Given the description of an element on the screen output the (x, y) to click on. 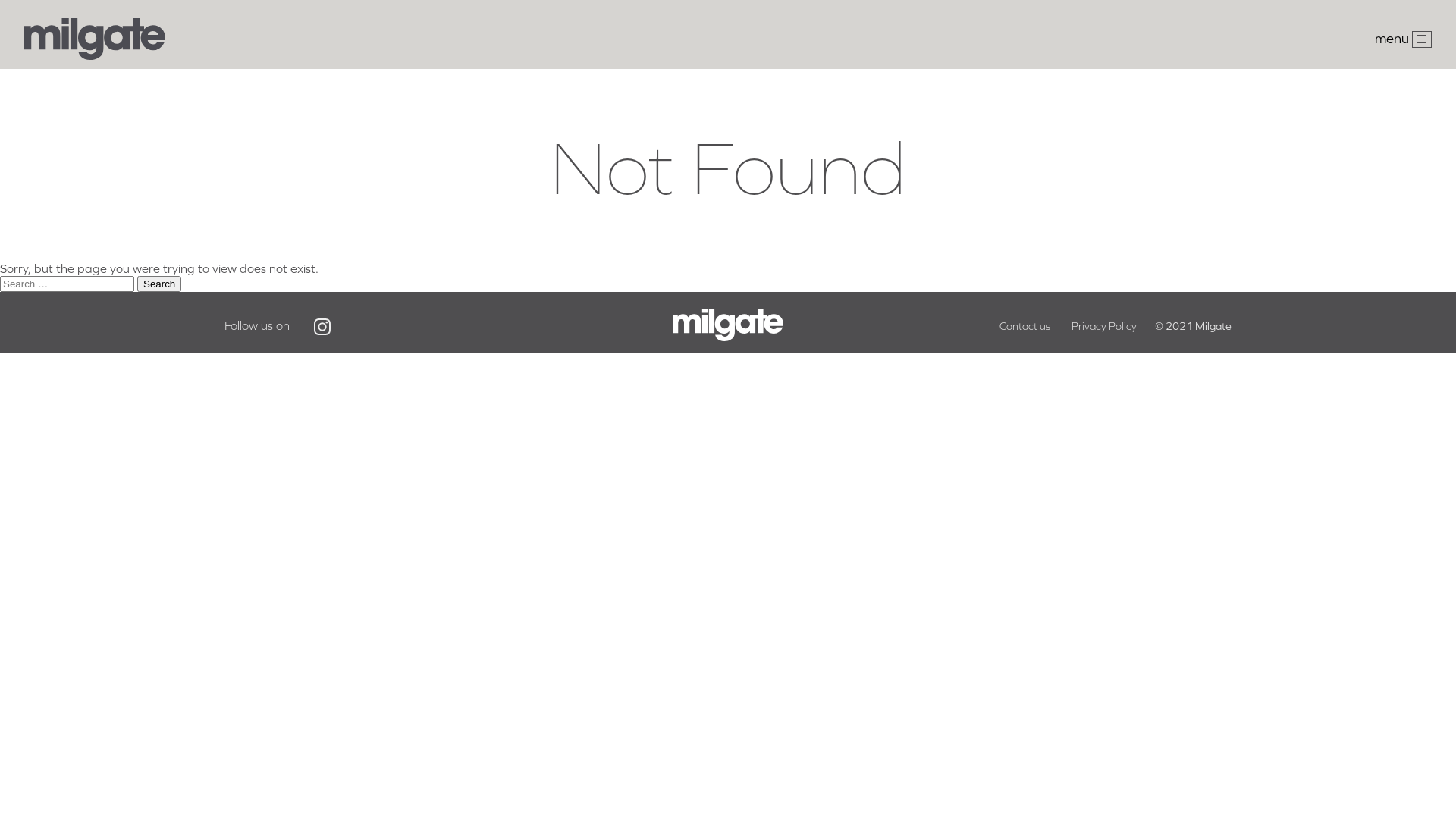
Search Element type: text (159, 283)
Contact us Element type: text (1024, 326)
Milgate Element type: hover (94, 55)
Privacy Policy Element type: text (1103, 326)
instagram Element type: hover (321, 326)
menu Element type: text (1402, 38)
